Given the description of an element on the screen output the (x, y) to click on. 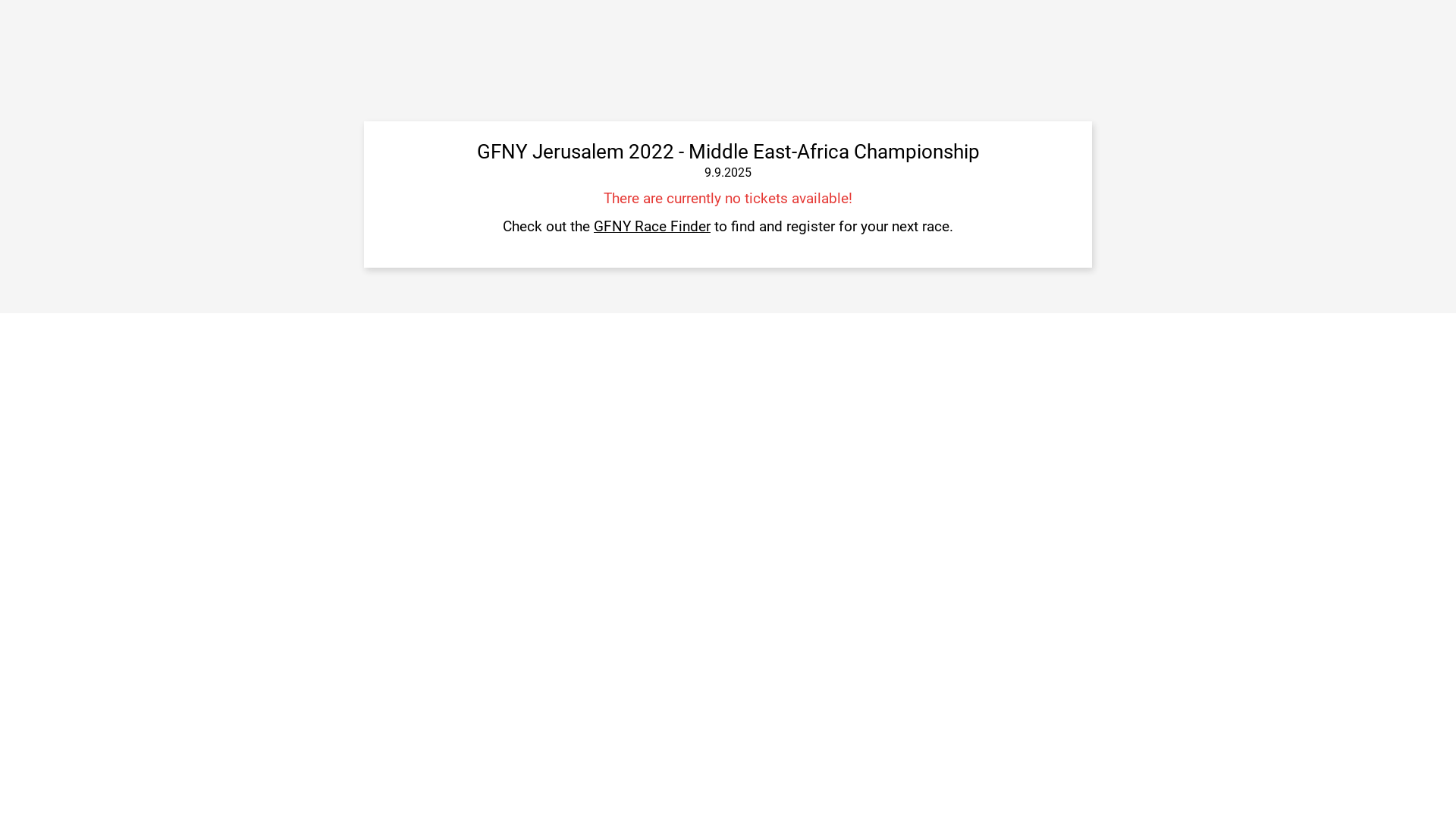
GFNY Race Finder Element type: text (651, 226)
Register Element type: text (1018, 168)
